Given the description of an element on the screen output the (x, y) to click on. 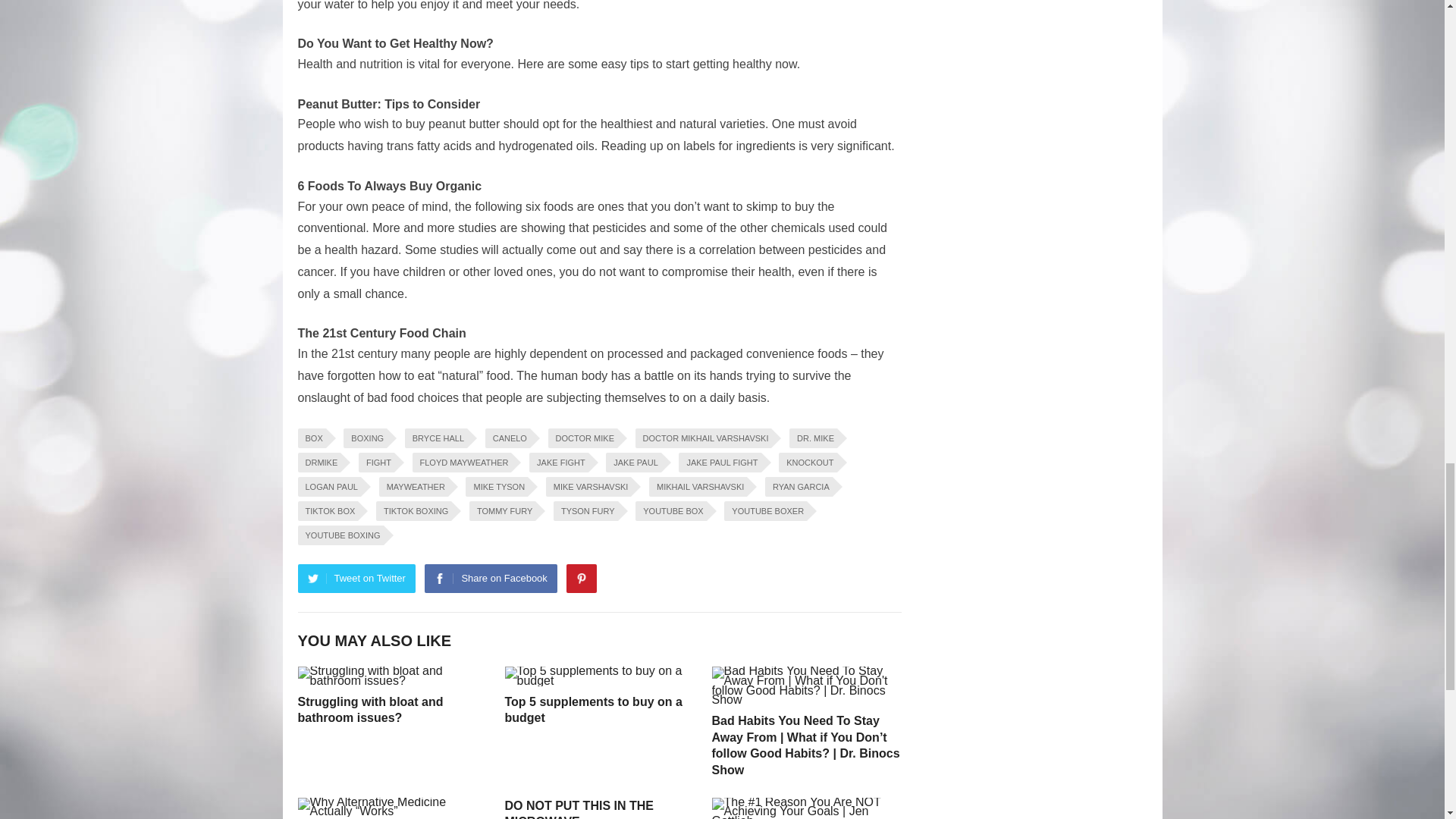
Top 5 supplements to buy on a budget 4 (599, 676)
BOXING (365, 437)
DOCTOR MIKHAIL VARSHAVSKI (702, 437)
BRYCE HALL (435, 437)
Struggling with bloat and bathroom issues? 2 (391, 676)
DR. MIKE (813, 437)
DOCTOR MIKE (582, 437)
CANELO (506, 437)
DRMIKE (318, 462)
BOX (310, 437)
